Given the description of an element on the screen output the (x, y) to click on. 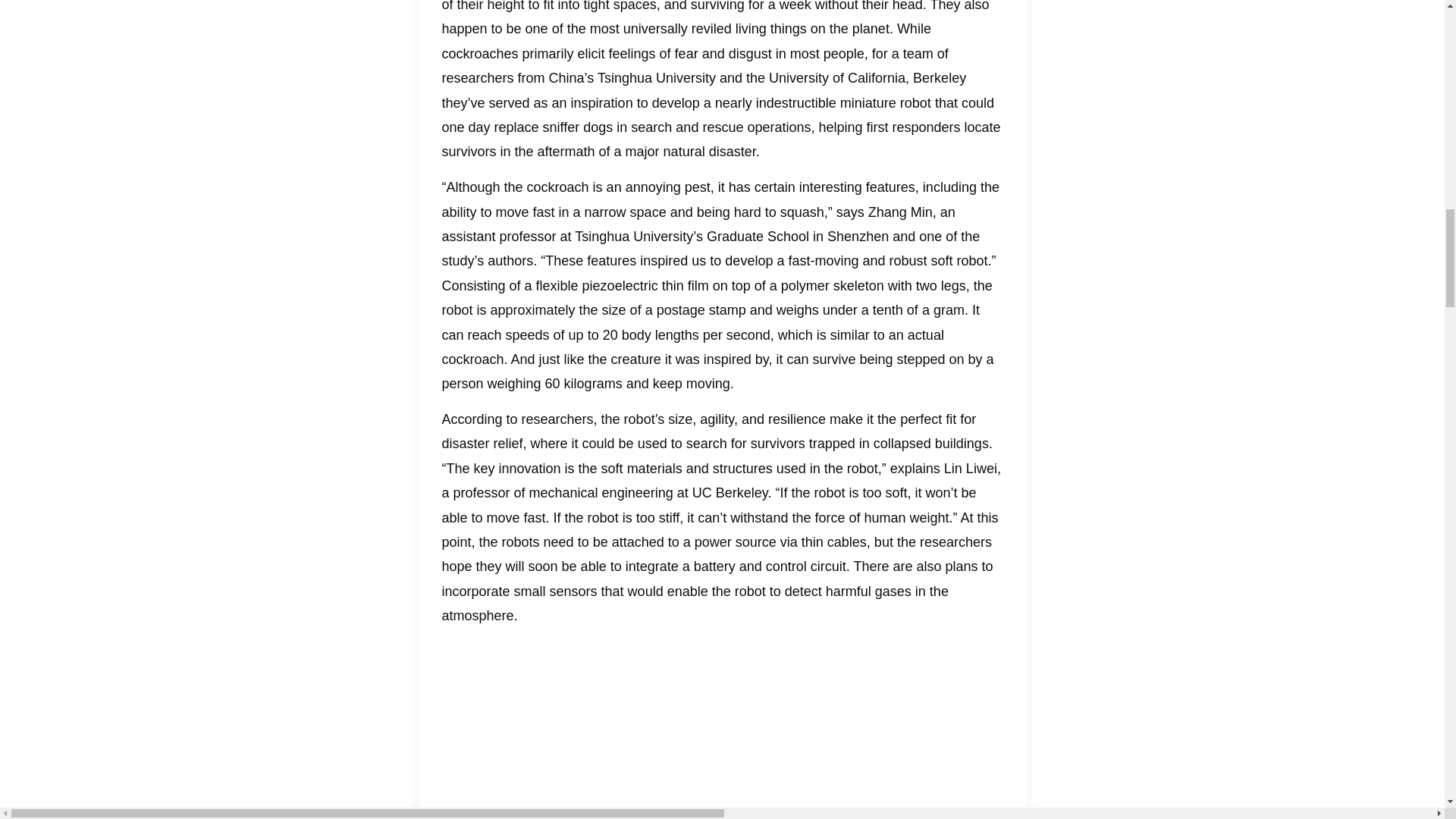
sensors (573, 590)
says (849, 212)
develop (676, 102)
explains (914, 468)
